Given the description of an element on the screen output the (x, y) to click on. 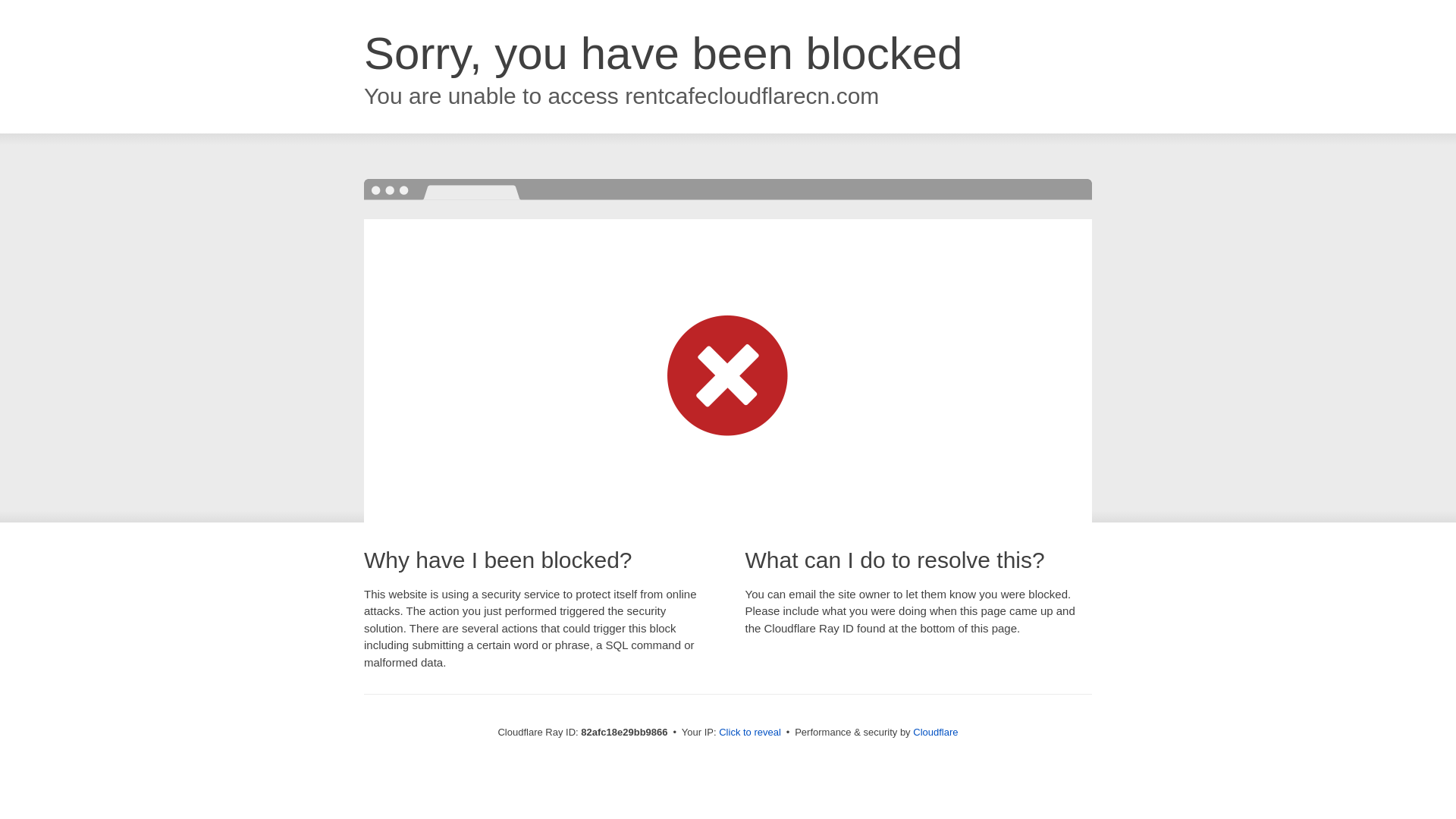
Click to reveal Element type: text (749, 732)
Cloudflare Element type: text (935, 731)
